Given the description of an element on the screen output the (x, y) to click on. 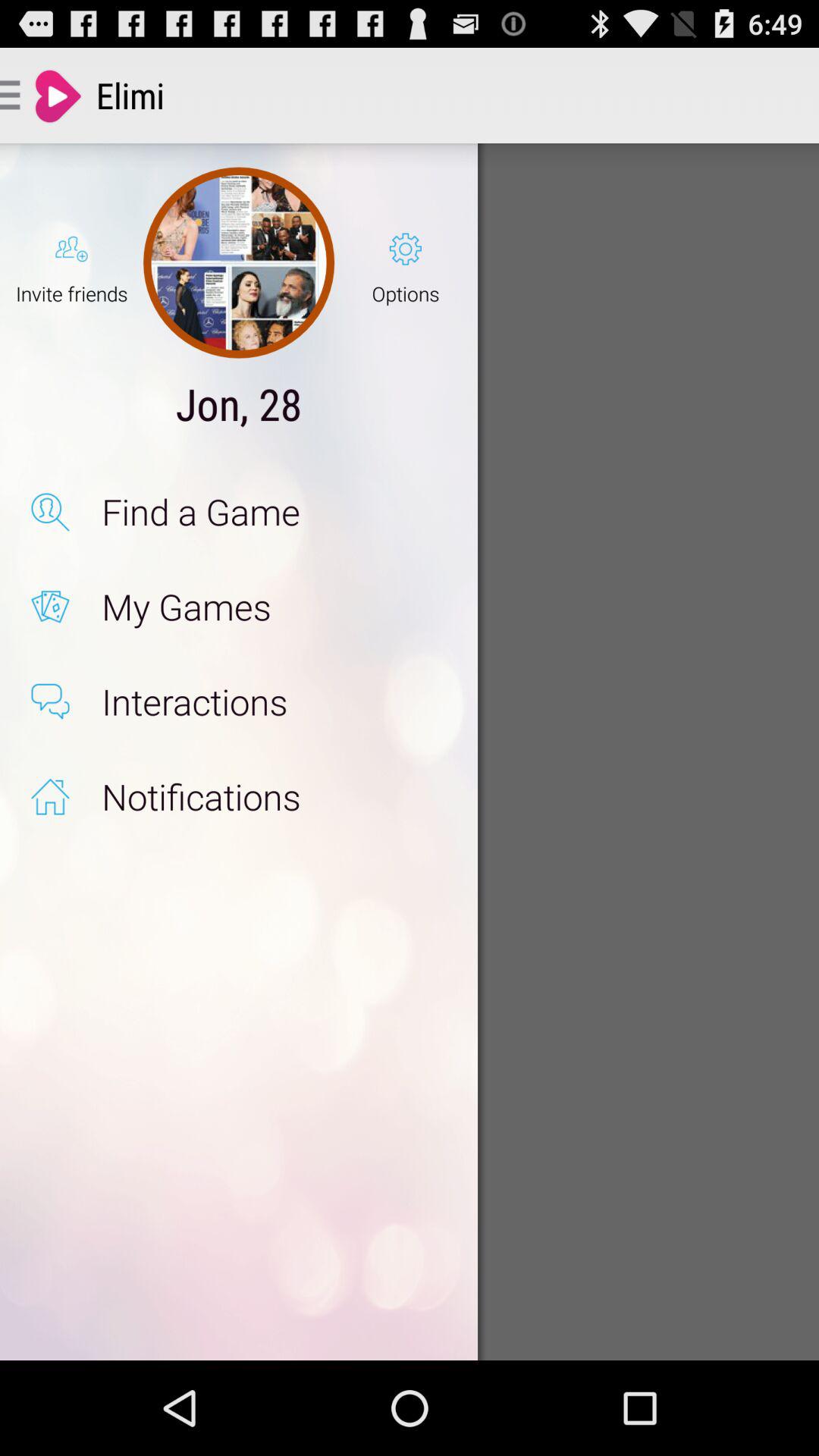
press invite friends item (71, 262)
